Given the description of an element on the screen output the (x, y) to click on. 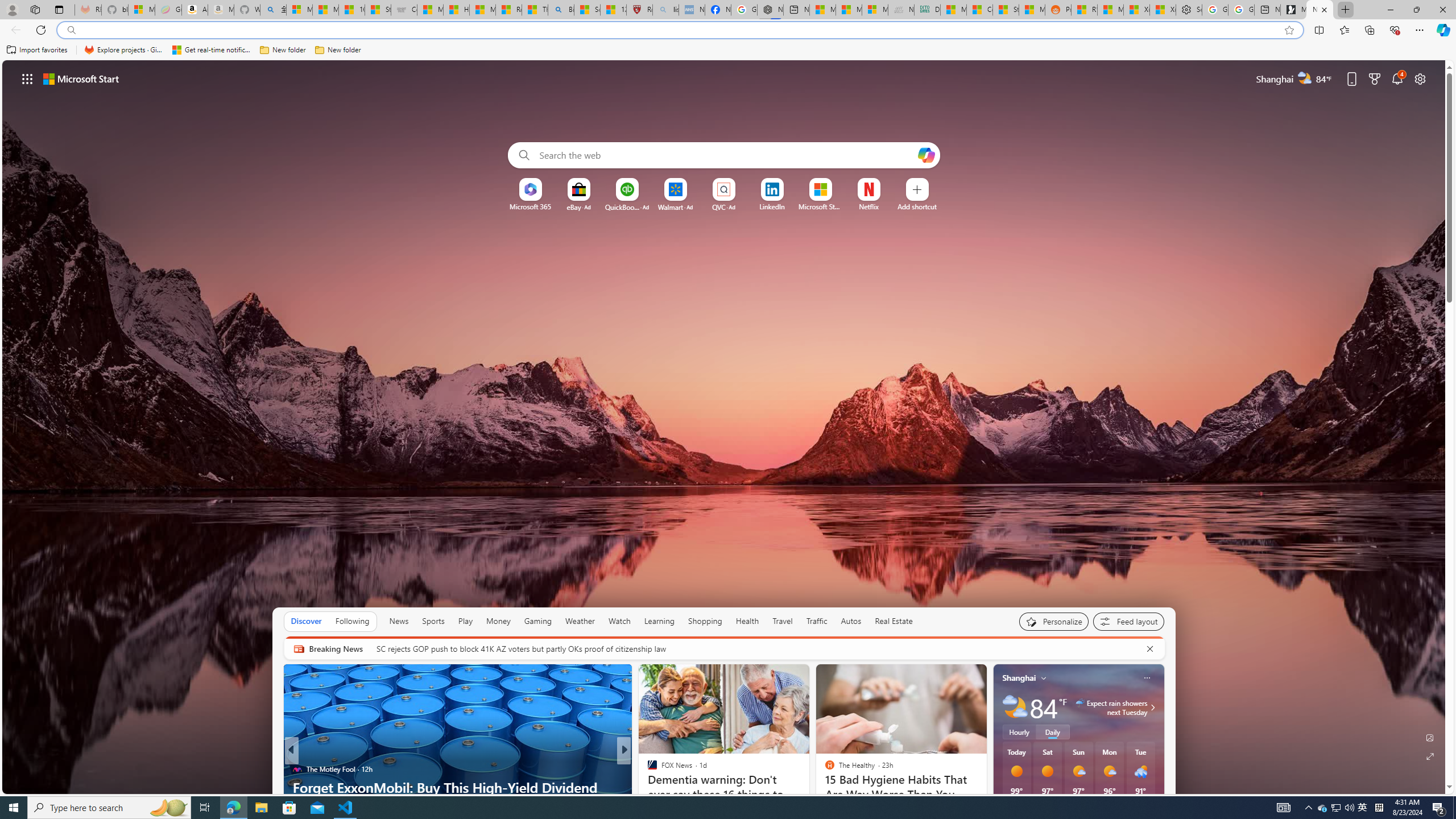
Edit Background (1430, 737)
Food Republic (647, 768)
